Given the description of an element on the screen output the (x, y) to click on. 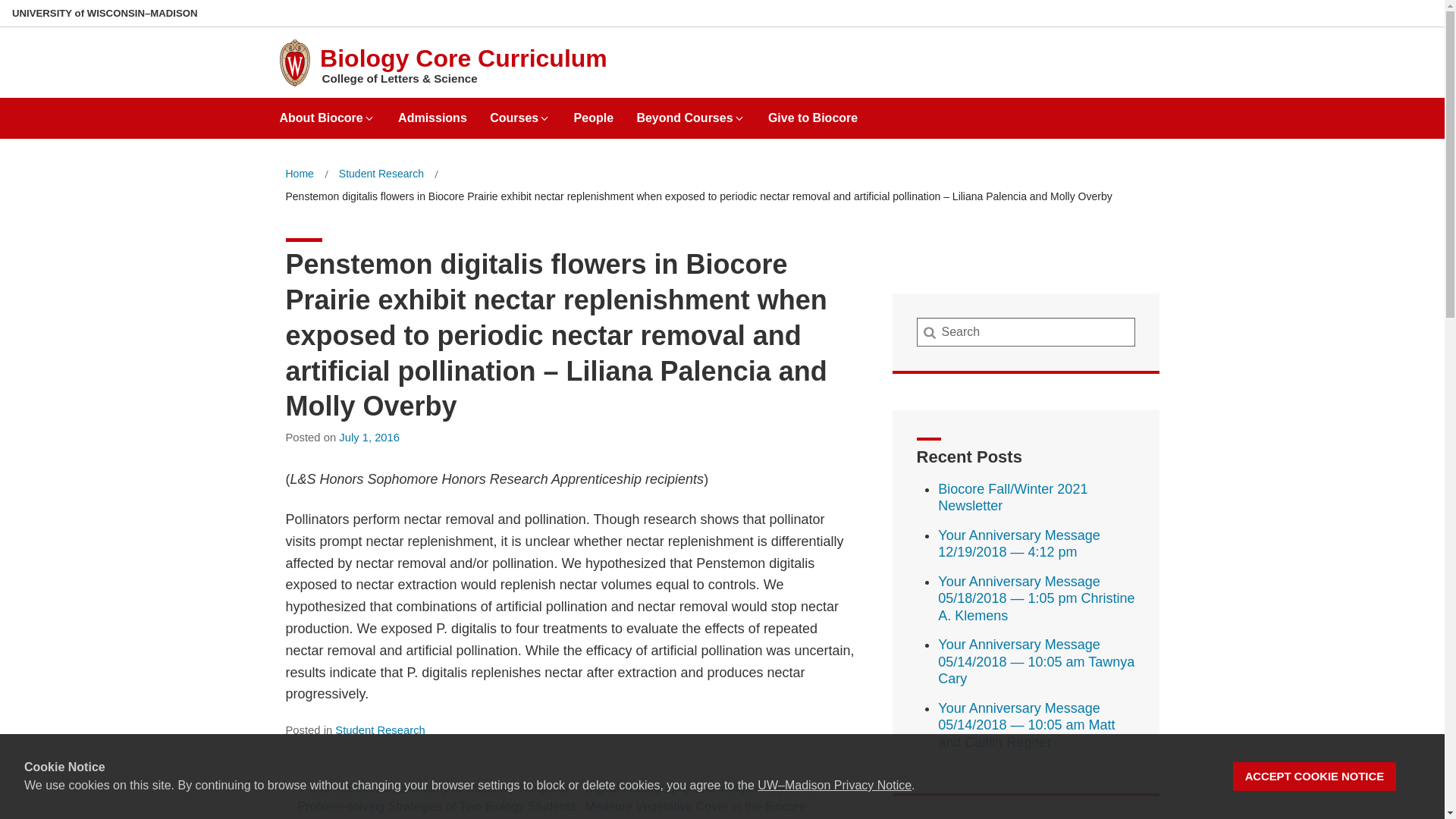
Courses Expand (519, 112)
Home (299, 173)
Expand (739, 118)
Expand (544, 118)
Beyond Courses Expand (690, 112)
Skip to main content (3, 3)
Search (37, 16)
ACCEPT COOKIE NOTICE (1314, 776)
About Biocore Expand (326, 112)
Student Research (379, 729)
